Given the description of an element on the screen output the (x, y) to click on. 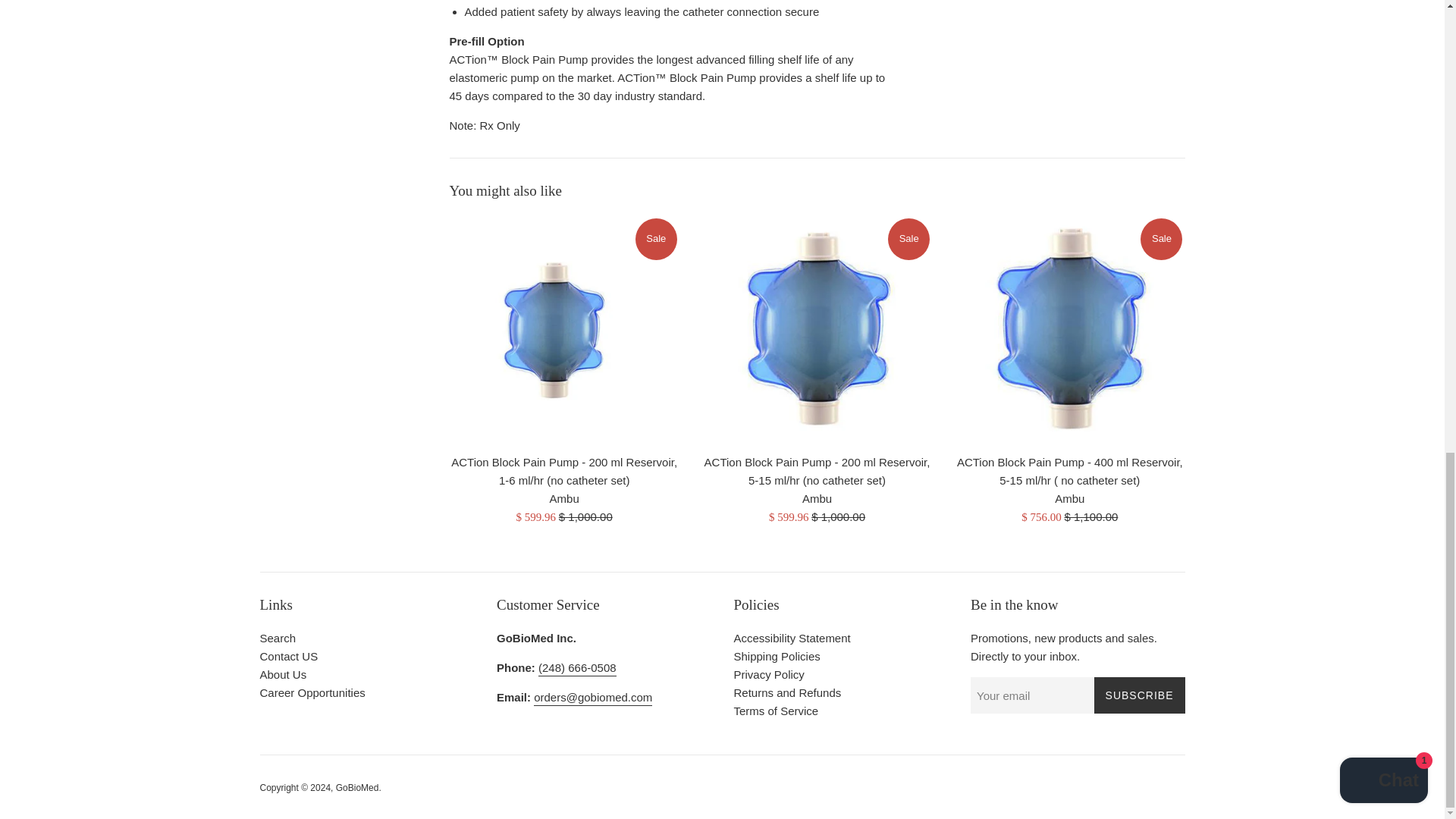
Customer Service Phone Number 2486660508 (576, 668)
